Given the description of an element on the screen output the (x, y) to click on. 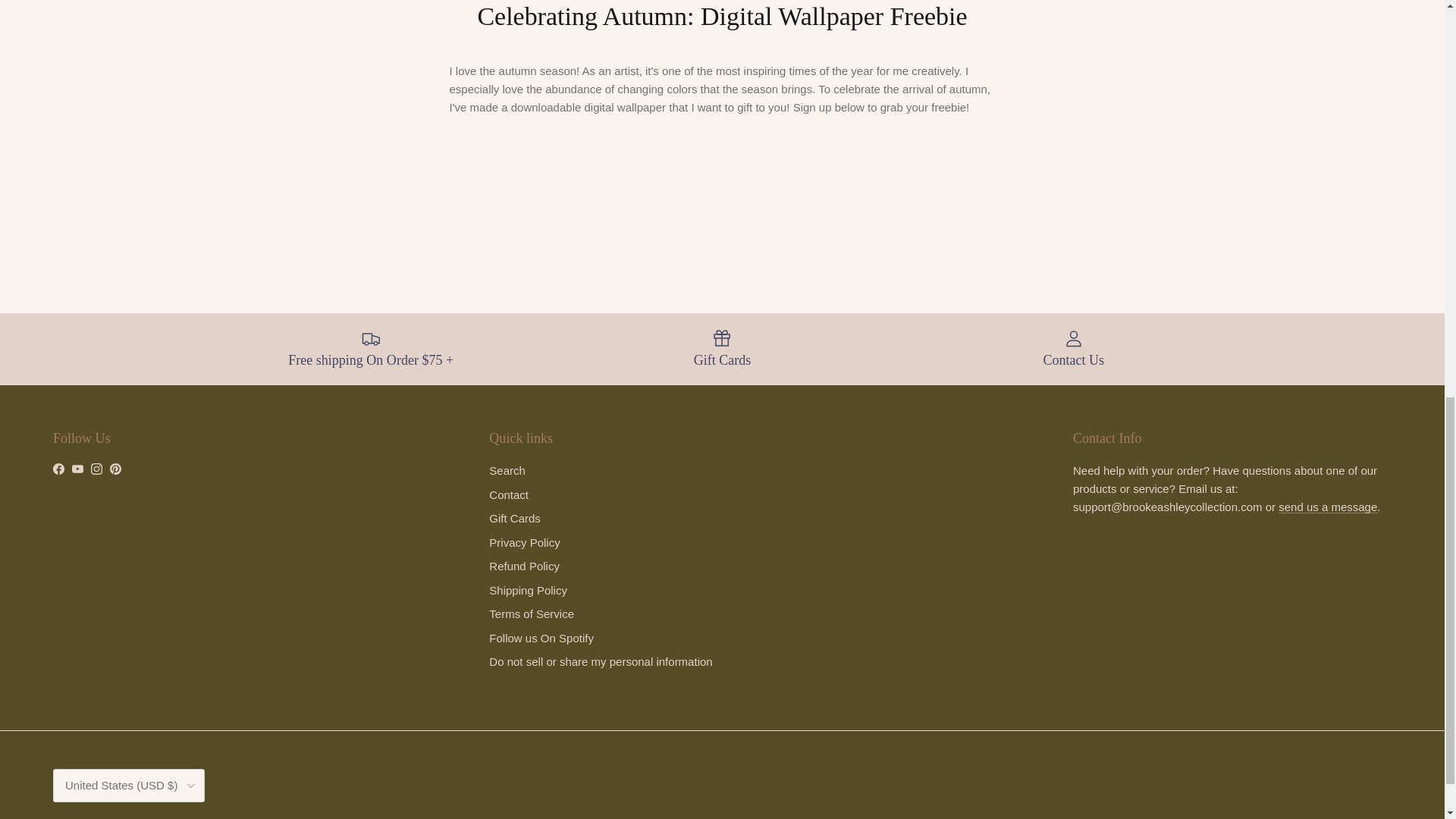
Brooke Ashley Collection  on Pinterest (115, 469)
Contact Us (1327, 506)
Brooke Ashley Collection  on YouTube (76, 469)
Brooke Ashley Collection  on Instagram (95, 469)
Brooke Ashley Collection  on Facebook (58, 469)
